Given the description of an element on the screen output the (x, y) to click on. 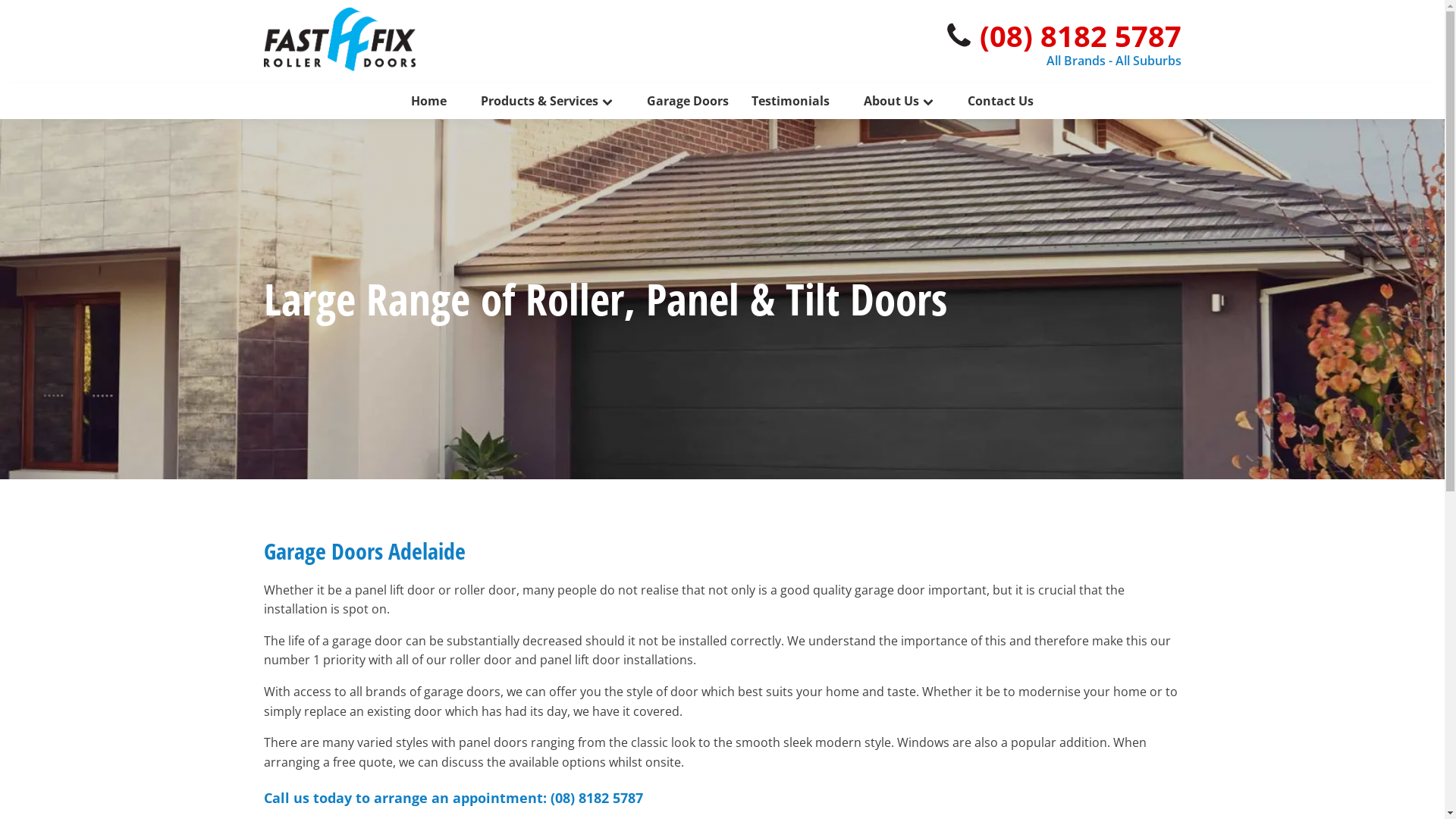
(08) 8182 5787
All Brands - All Suburbs Element type: text (1061, 41)
(08) 8182 5787 Element type: text (596, 797)
Contact Us Element type: text (1000, 101)
Home Element type: text (428, 101)
Testimonials Element type: text (790, 101)
Garage Doors Element type: text (687, 101)
Products & Services Element type: text (546, 101)
About Us Element type: text (898, 101)
